Given the description of an element on the screen output the (x, y) to click on. 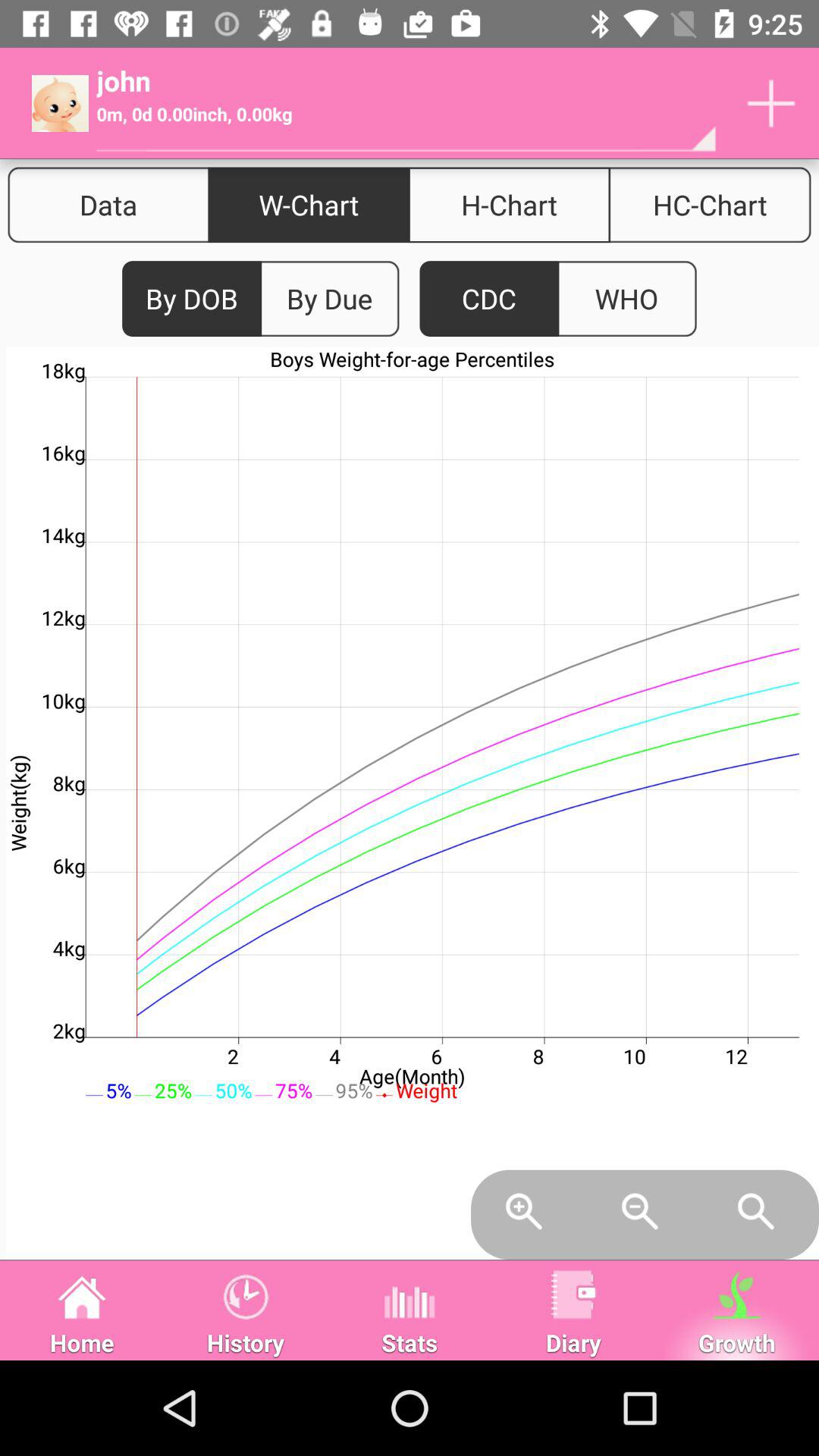
swipe to the w-chart icon (309, 204)
